Given the description of an element on the screen output the (x, y) to click on. 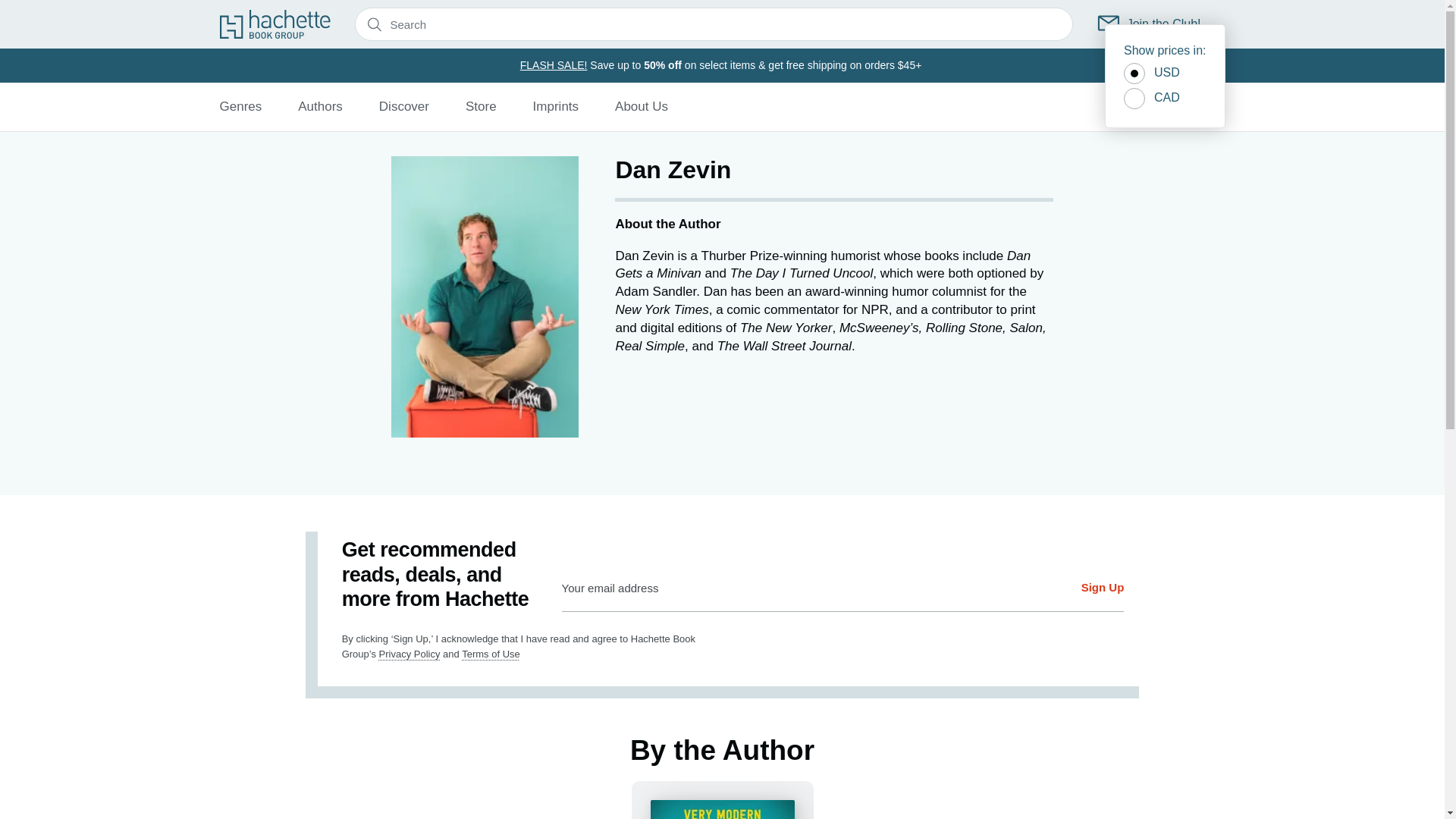
FLASH SALE! (553, 64)
Genres (240, 106)
Go to Hachette Book Group home (274, 23)
Join the Club! (1149, 24)
